Given the description of an element on the screen output the (x, y) to click on. 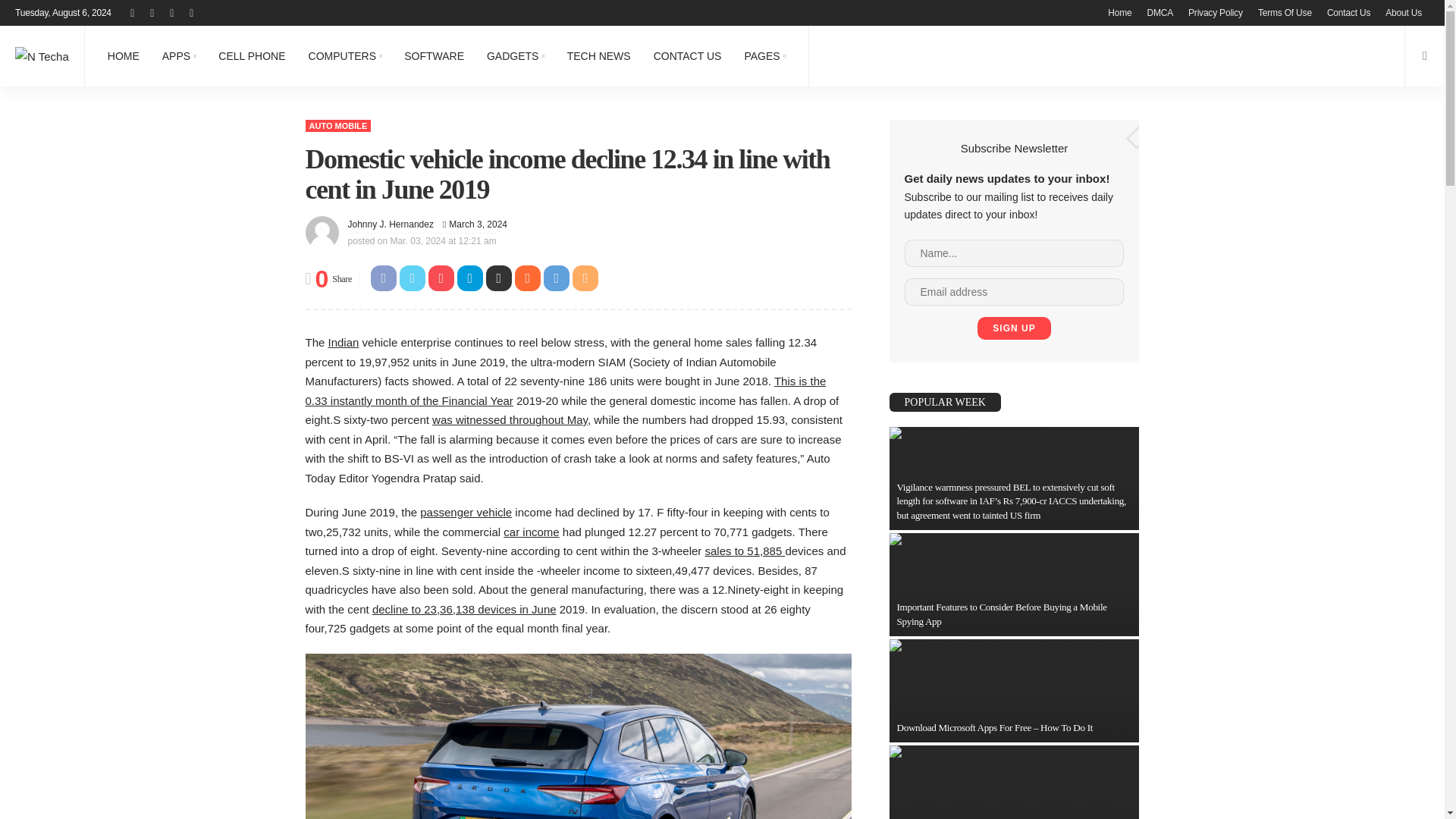
GADGETS (516, 55)
HOME (123, 55)
Sign up (1012, 327)
AUTO MOBILE (337, 125)
PAGES (764, 55)
CELL PHONE (251, 55)
CONTACT US (687, 55)
APPS (179, 55)
COMPUTERS (345, 55)
Contact Us (1348, 12)
